Given the description of an element on the screen output the (x, y) to click on. 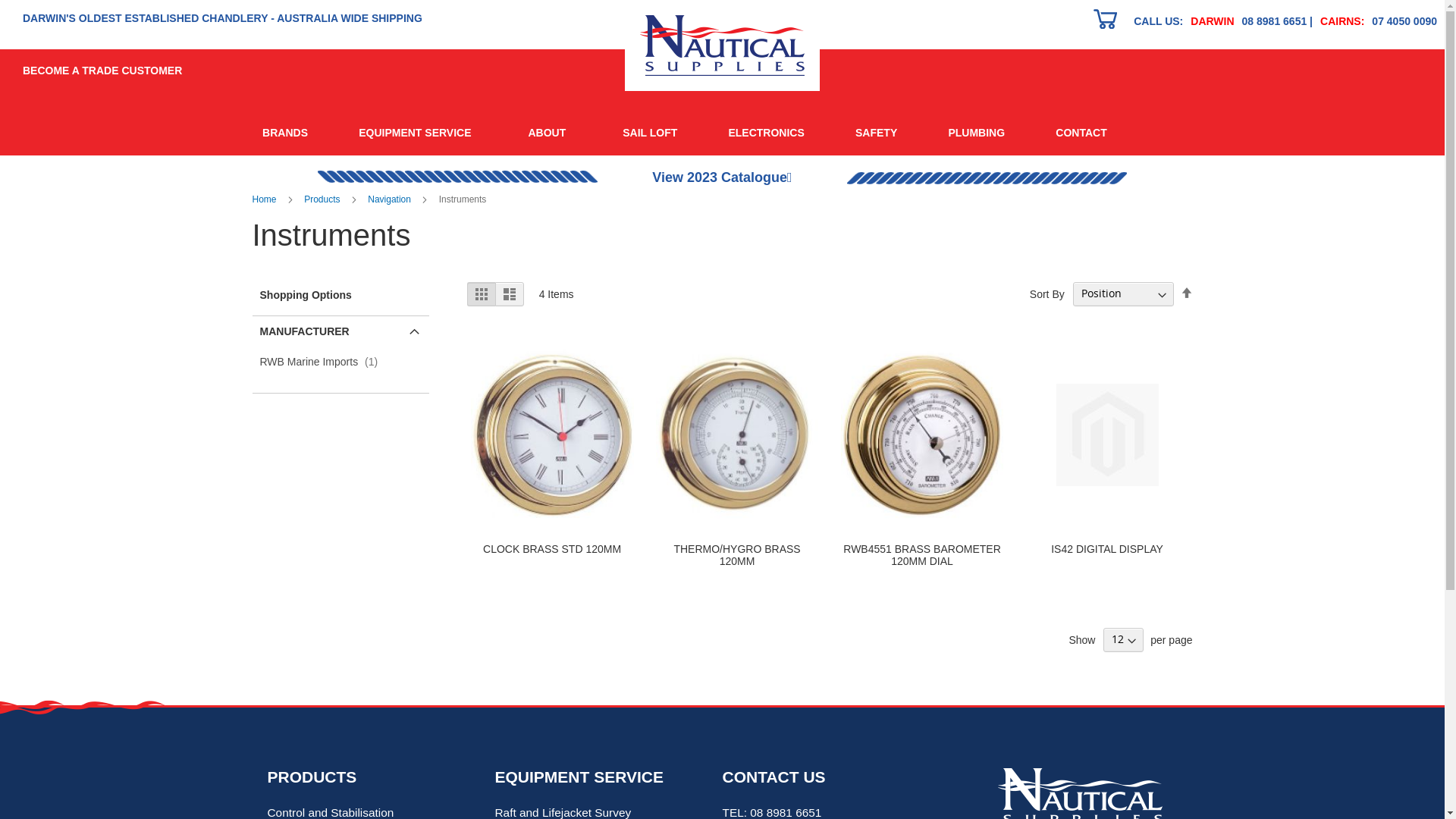
SAFETY Element type: text (875, 132)
CONTACT Element type: text (1081, 132)
RWB4551 BRASS BAROMETER 120MM DIAL Element type: text (921, 554)
PLUMBING Element type: text (976, 132)
ABOUT   Element type: text (549, 132)
EQUIPMENT SERVICE   Element type: text (417, 132)
RWB Marine Imports 1
item Element type: text (321, 361)
SAIL LOFT Element type: text (649, 132)
List Element type: text (509, 294)
Set Descending Direction Element type: text (1185, 292)
My Cart Element type: text (1105, 20)
BRANDS Element type: text (284, 132)
Nautical Supplies Element type: hover (1105, 18)
Nautical Supplies Element type: hover (721, 45)
CLOCK BRASS STD 120MM Element type: text (552, 548)
Navigation Element type: text (390, 199)
THERMO/HYGRO BRASS 120MM Element type: text (736, 554)
Products Element type: text (323, 199)
IS42 DIGITAL DISPLAY Element type: text (1107, 548)
Home Element type: text (264, 199)
ELECTRONICS Element type: text (766, 132)
